Given the description of an element on the screen output the (x, y) to click on. 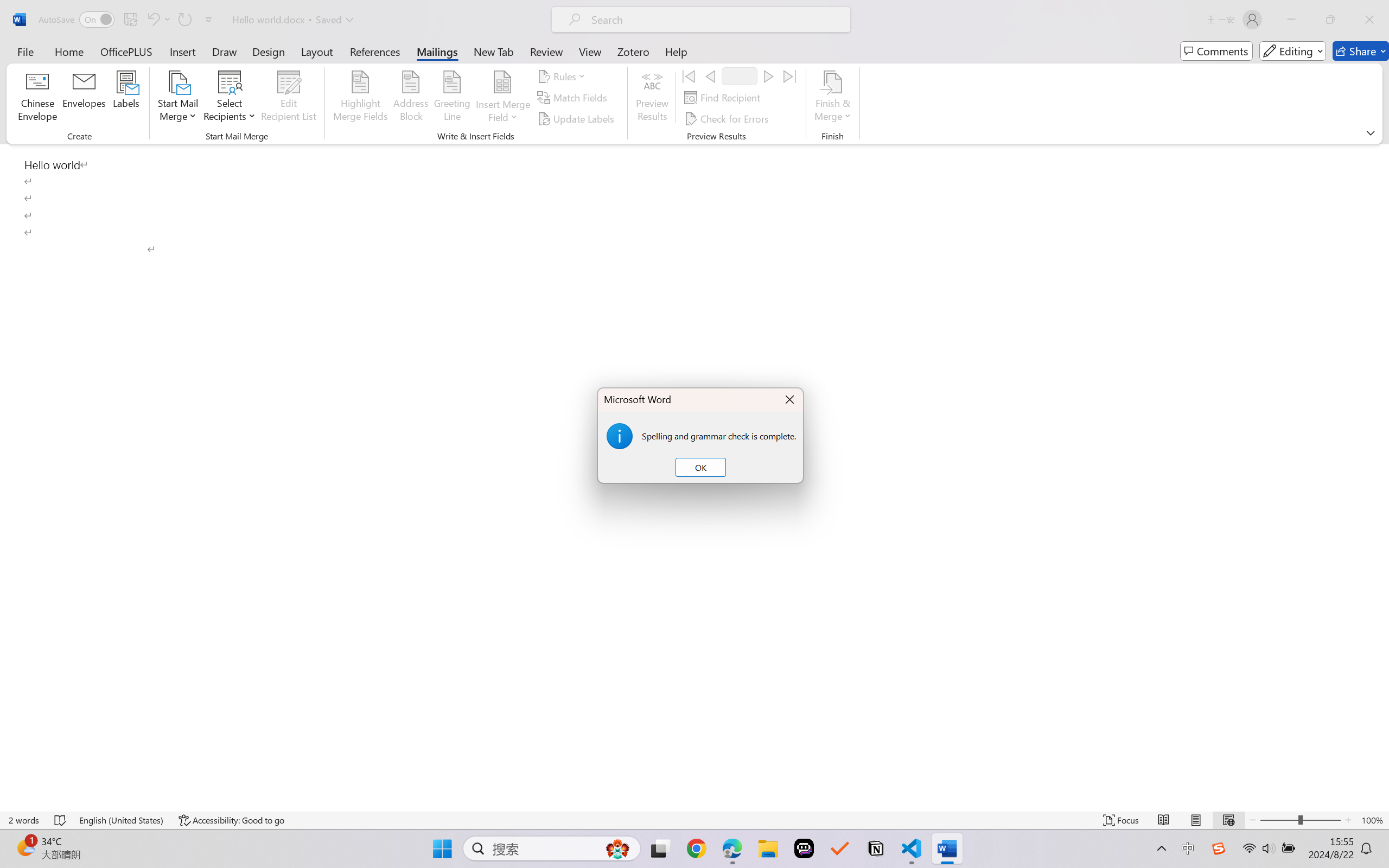
Google Chrome (696, 848)
Close (1369, 19)
Undo Click and Type Formatting (158, 19)
Zotero (632, 51)
Insert Merge Field (502, 81)
Mailings (437, 51)
Print Layout (1196, 819)
View (589, 51)
Editing (1292, 50)
